Given the description of an element on the screen output the (x, y) to click on. 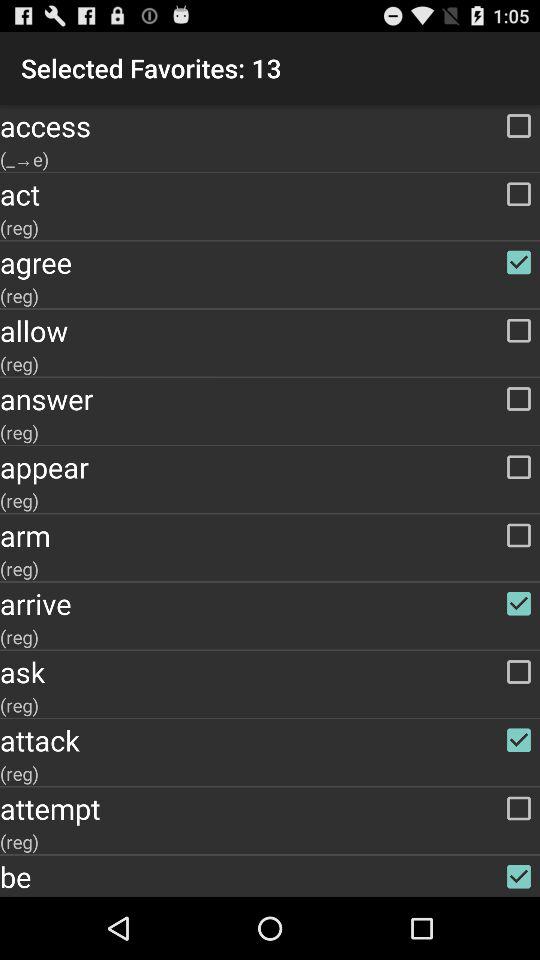
turn on the app below the (reg)  app (270, 672)
